Given the description of an element on the screen output the (x, y) to click on. 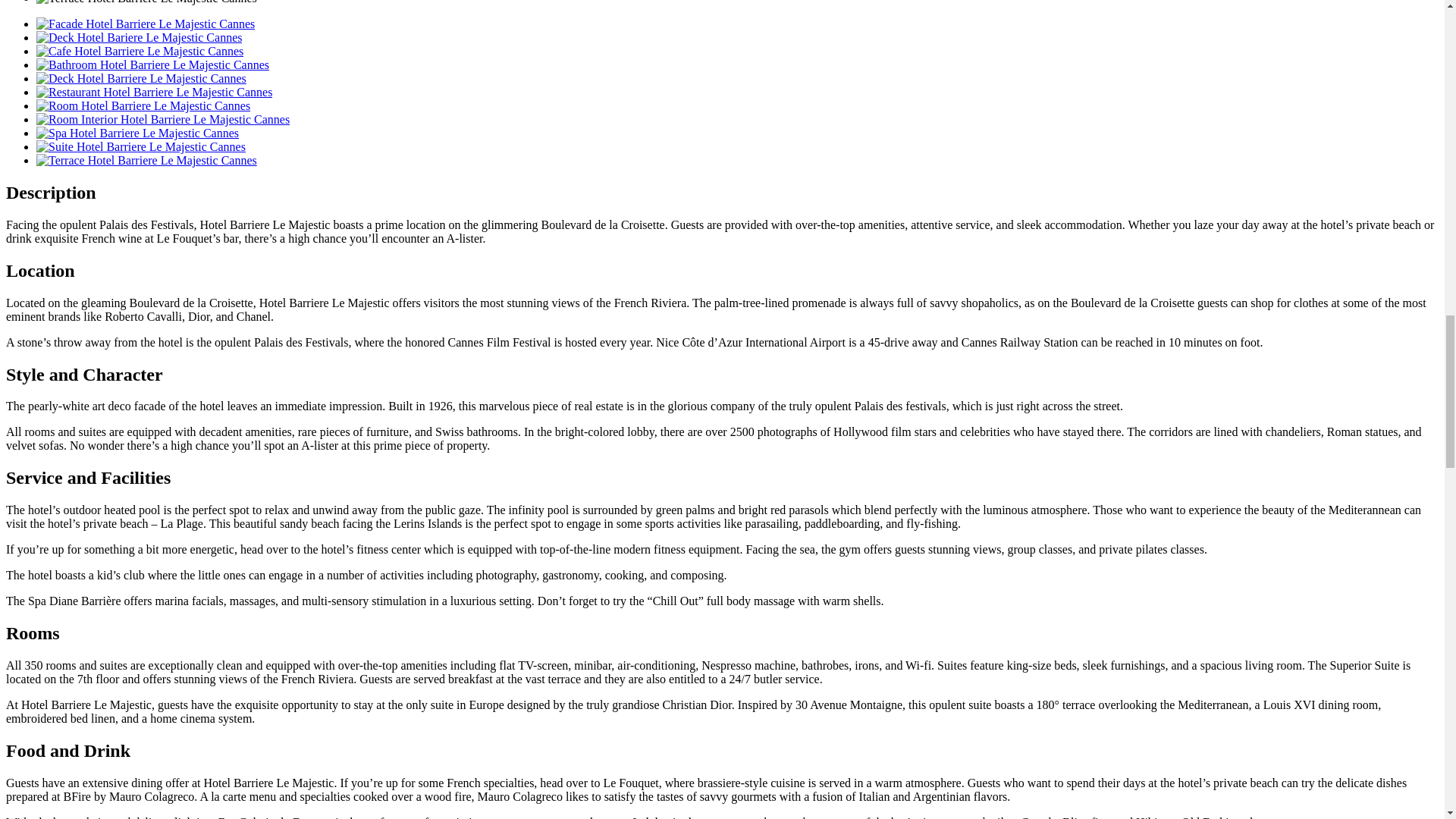
Open Slide (154, 91)
Open Slide (146, 160)
Open Slide (139, 51)
Open Slide (141, 146)
Open Slide (152, 64)
Open Slide (143, 105)
Open Slide (137, 132)
Open Slide (162, 119)
Open Slide (145, 23)
Open Slide (138, 37)
